Given the description of an element on the screen output the (x, y) to click on. 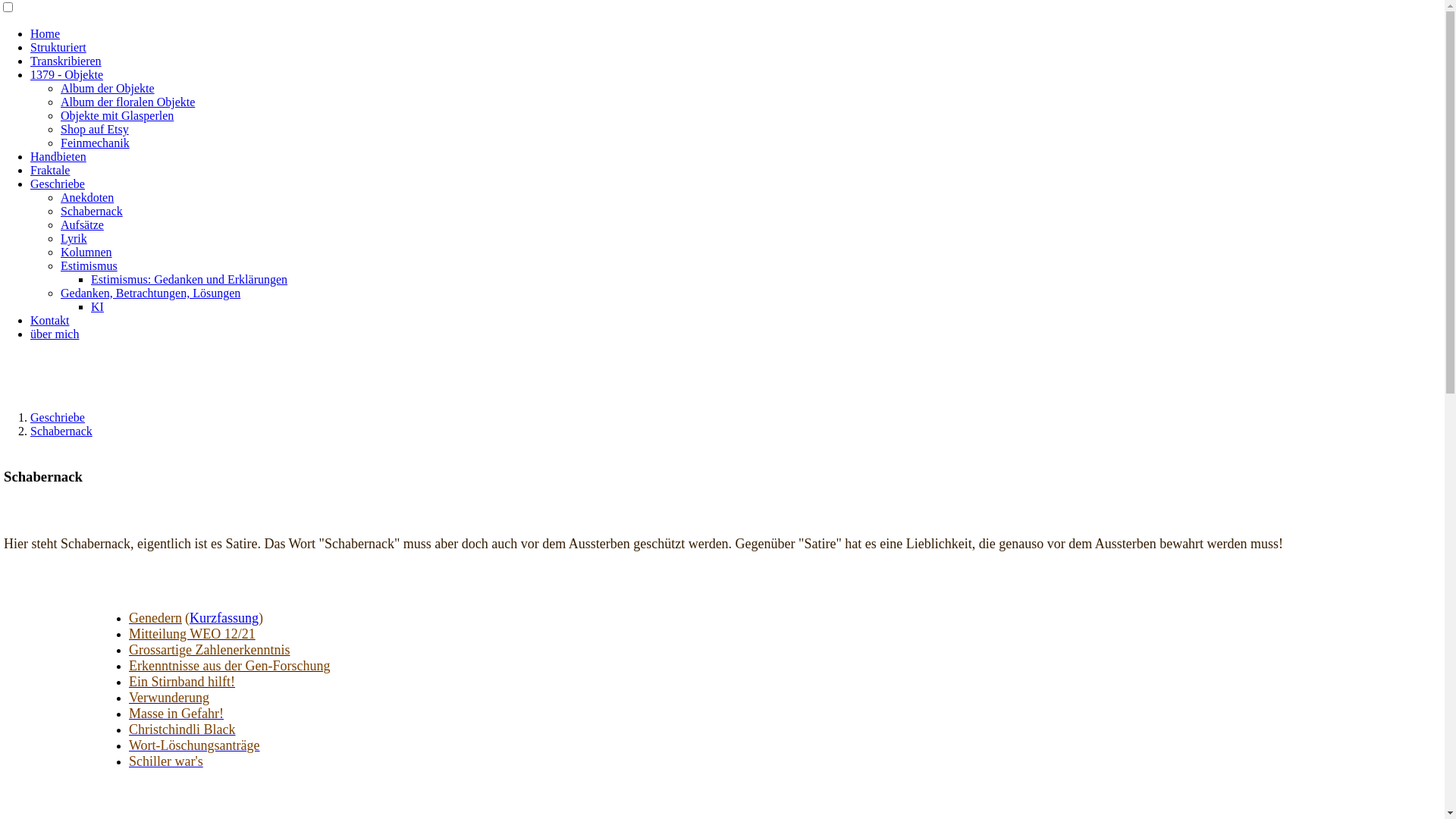
KI Element type: text (97, 306)
Christchindli Black Element type: text (181, 729)
Genedern Element type: text (155, 617)
Kolumnen Element type: text (86, 251)
Geschriebe Element type: text (57, 183)
Feinmechanik Element type: text (94, 142)
Grossartige Zahlenerkenntnis Element type: text (208, 649)
Anekdoten Element type: text (86, 197)
Verwunderung Element type: text (168, 697)
Estimismus Element type: text (88, 265)
Geschriebe Element type: text (57, 417)
Ein Stirnband hilft! Element type: text (181, 681)
Erkenntnisse aus der Gen-Forschung Element type: text (228, 665)
Fraktale Element type: text (49, 169)
1379 - Objekte Element type: text (66, 74)
Objekte mit Glasperlen Element type: text (116, 115)
Masse in Gefahr! Element type: text (175, 713)
Lyrik Element type: text (73, 238)
Schabernack Element type: text (91, 210)
Schiller war's Element type: text (165, 761)
Handbieten Element type: text (58, 156)
Kurzfassung Element type: text (223, 617)
Kontakt Element type: text (49, 319)
Schabernack Element type: text (61, 430)
Home Element type: text (44, 33)
Mitteilung WEO 12/21 Element type: text (191, 633)
Shop auf Etsy Element type: text (94, 128)
Album der Objekte Element type: text (107, 87)
Strukturiert Element type: text (58, 46)
Album der floralen Objekte Element type: text (127, 101)
Transkribieren Element type: text (65, 60)
